Given the description of an element on the screen output the (x, y) to click on. 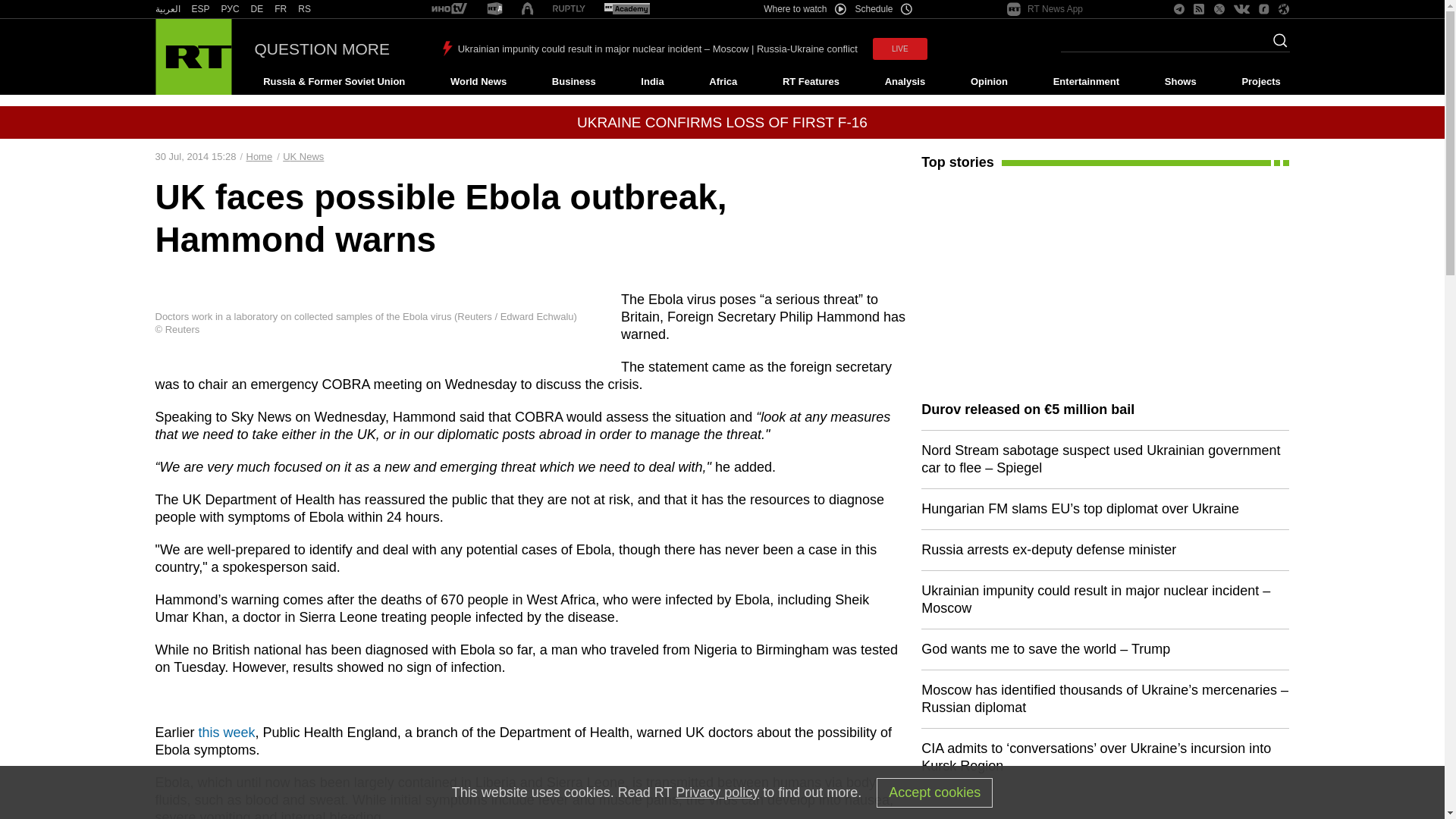
DE (256, 9)
LIVE (899, 48)
RT  (448, 9)
Africa (722, 81)
Search (1276, 44)
Projects (1261, 81)
RT  (199, 9)
Analysis (905, 81)
RT Features (810, 81)
RT  (304, 9)
